Given the description of an element on the screen output the (x, y) to click on. 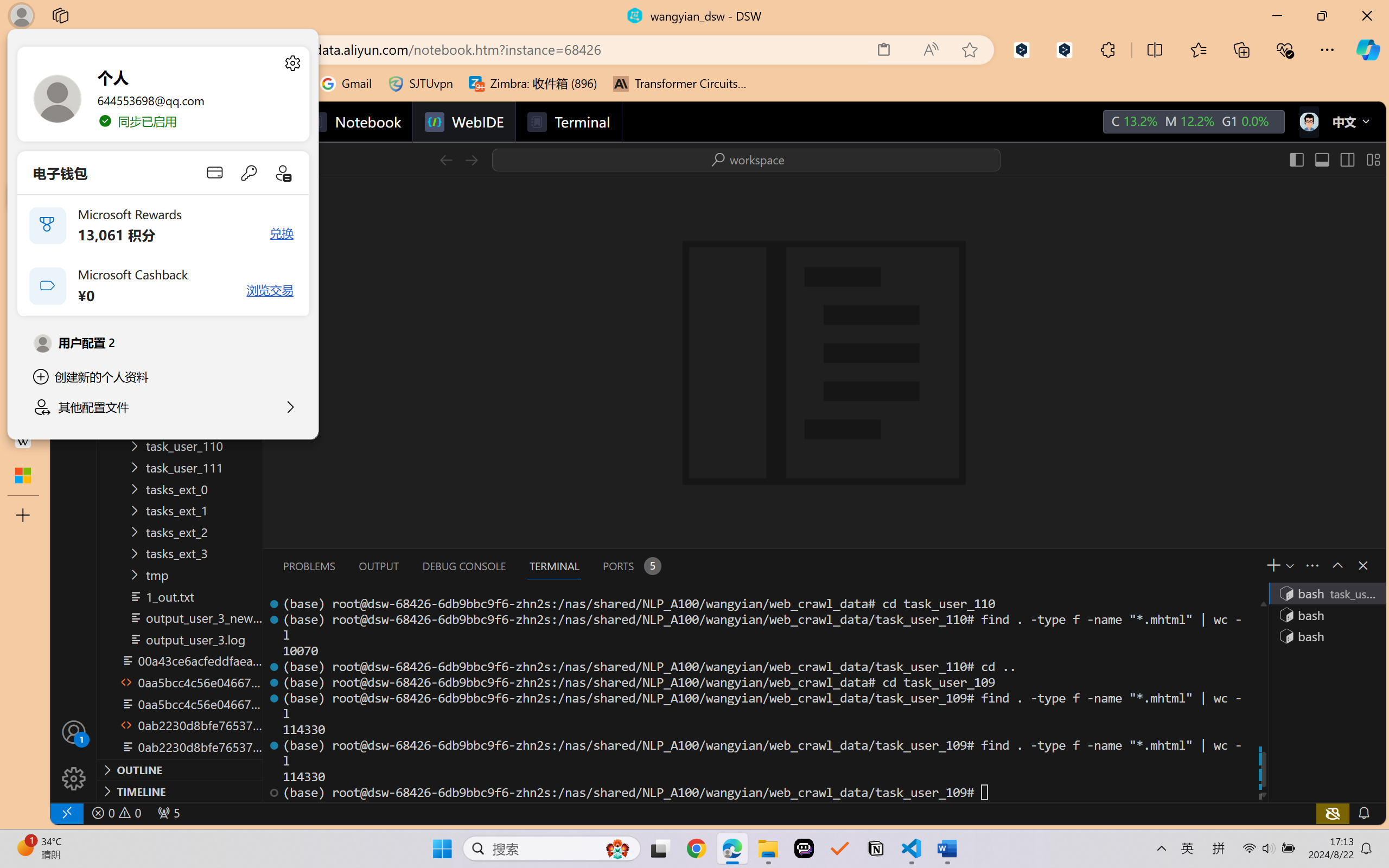
Toggle Primary Side Bar (Ctrl+B) (1295, 159)
Notifications (1363, 812)
